Given the description of an element on the screen output the (x, y) to click on. 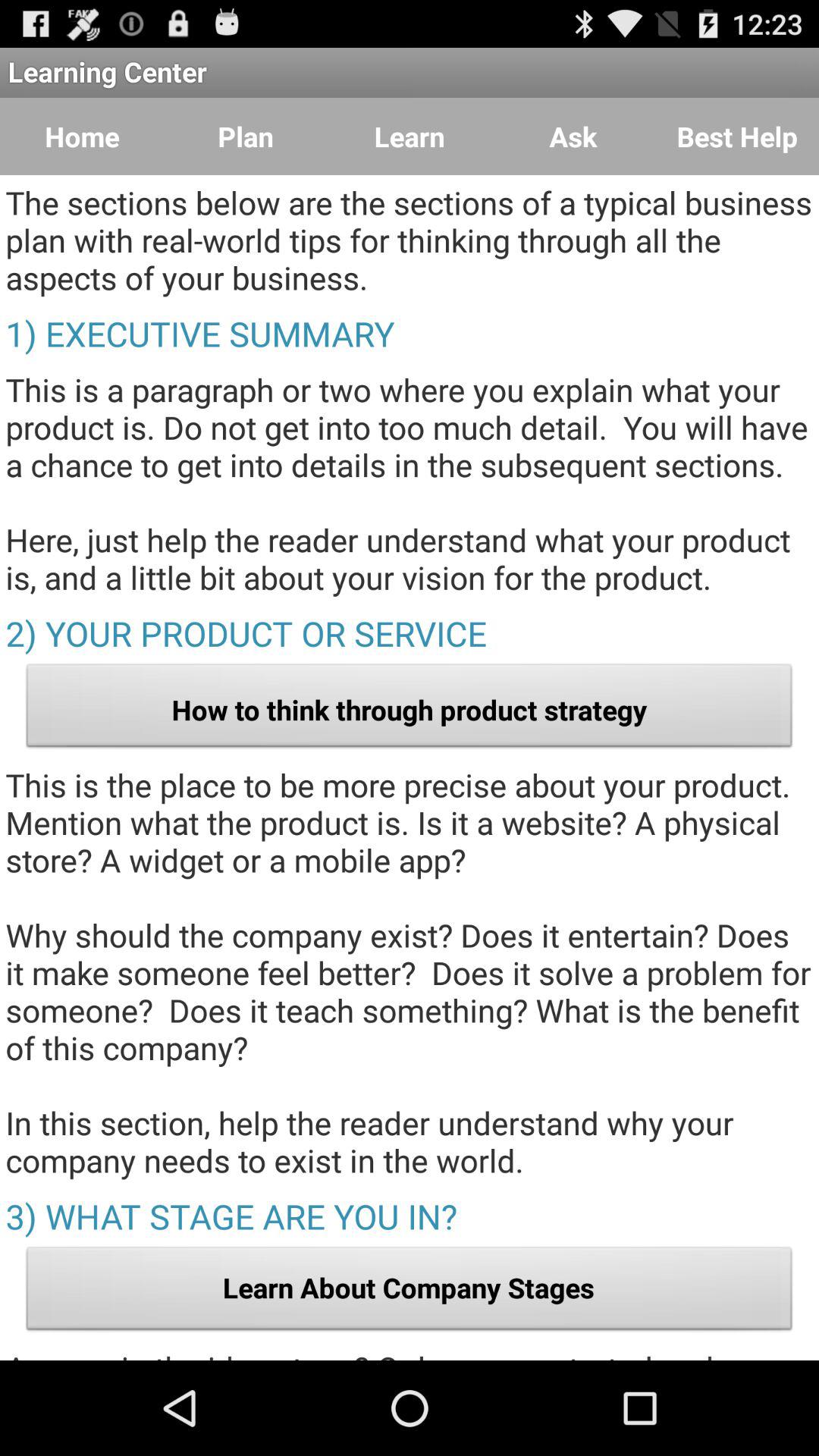
open item to the left of plan item (81, 136)
